Given the description of an element on the screen output the (x, y) to click on. 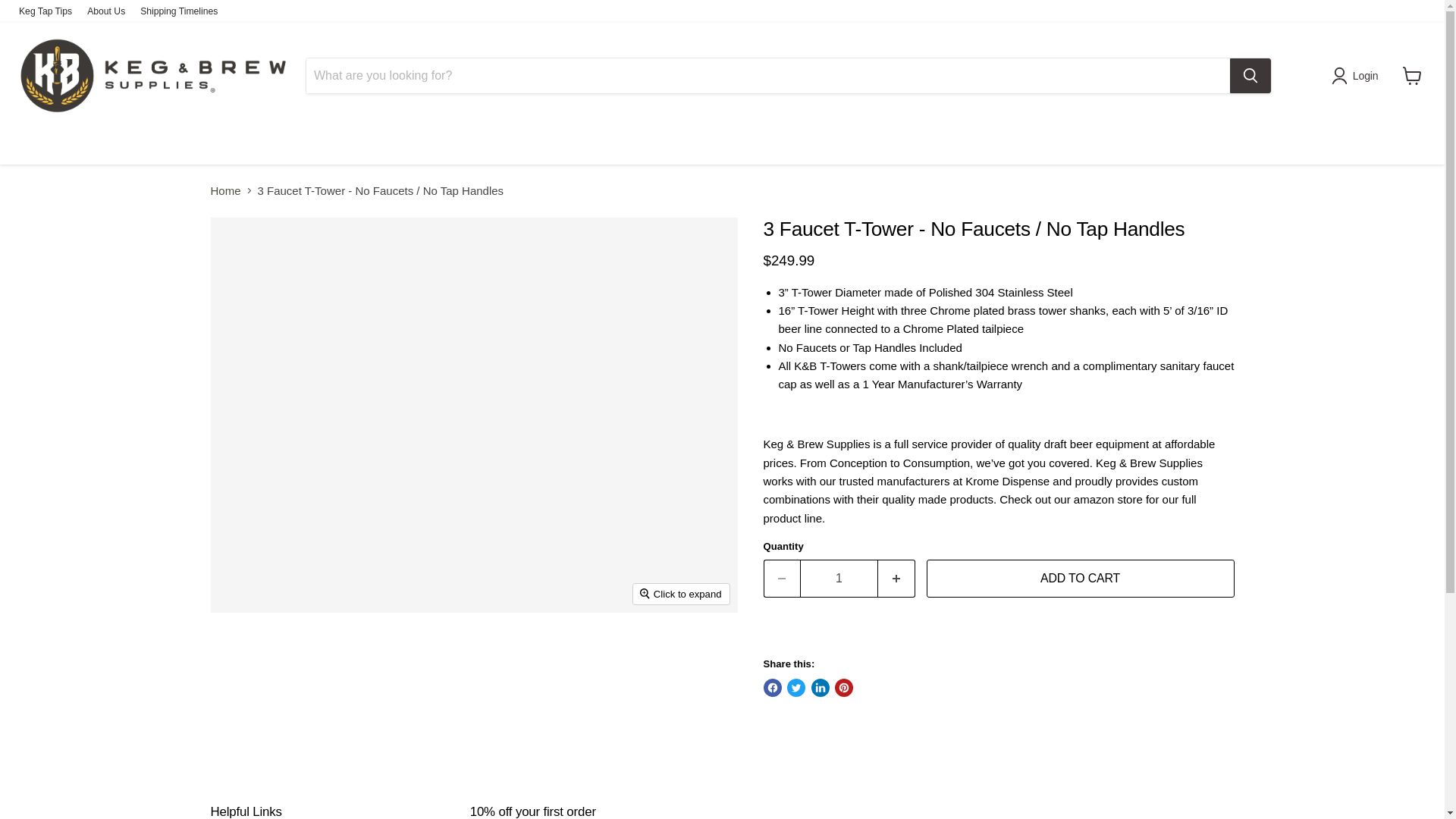
Keg Tap Tips (44, 10)
Shipping Timelines (177, 10)
Login (1358, 75)
About Us (106, 10)
1 (838, 578)
View cart (1411, 75)
